Given the description of an element on the screen output the (x, y) to click on. 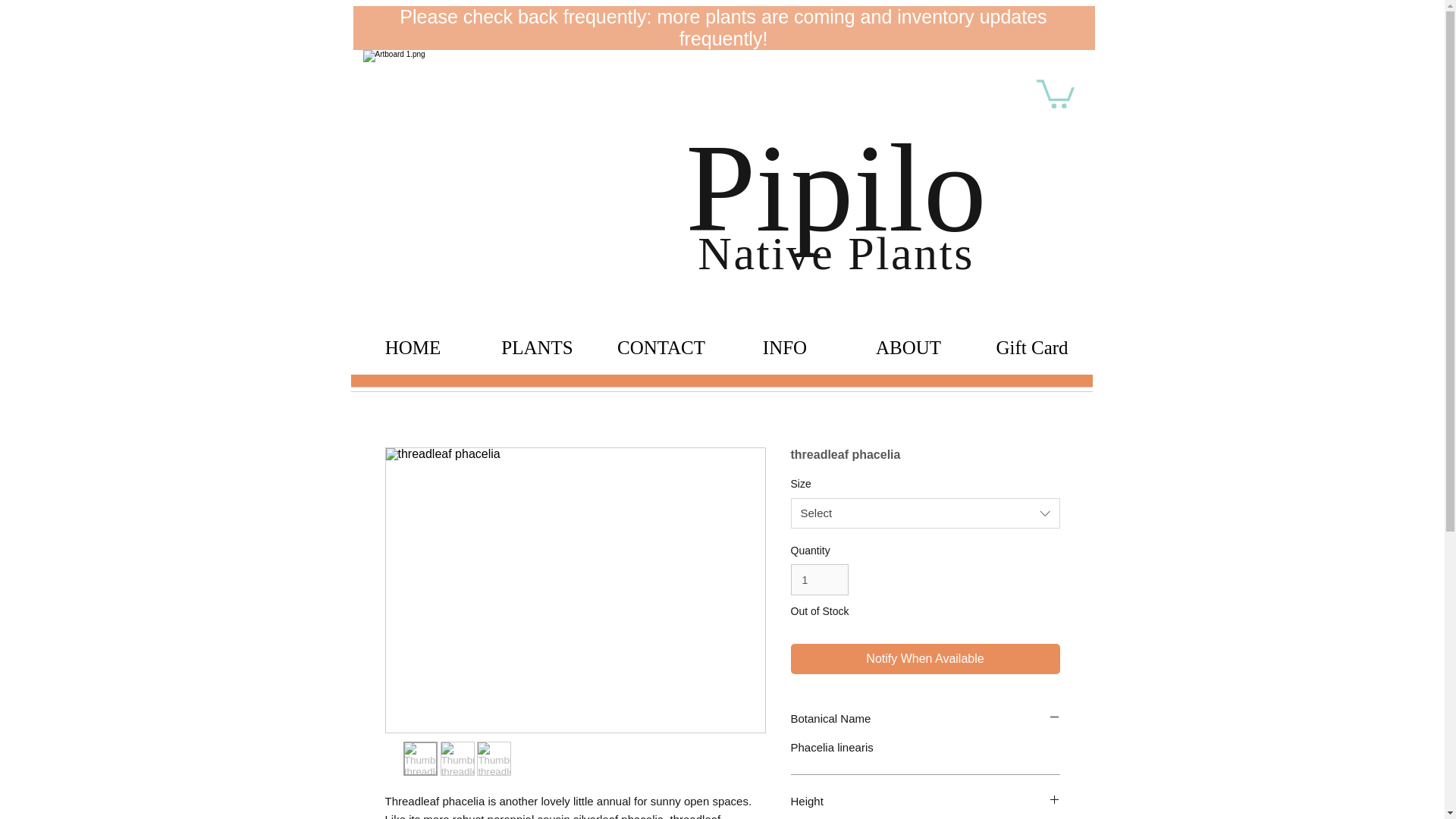
HOME (412, 347)
ABOUT (907, 347)
Gift Card (1032, 347)
Select (924, 512)
INFO (785, 347)
PLANTS (536, 347)
Botanical Name (924, 718)
Pipilo (836, 187)
1 (818, 579)
Height (924, 801)
